Given the description of an element on the screen output the (x, y) to click on. 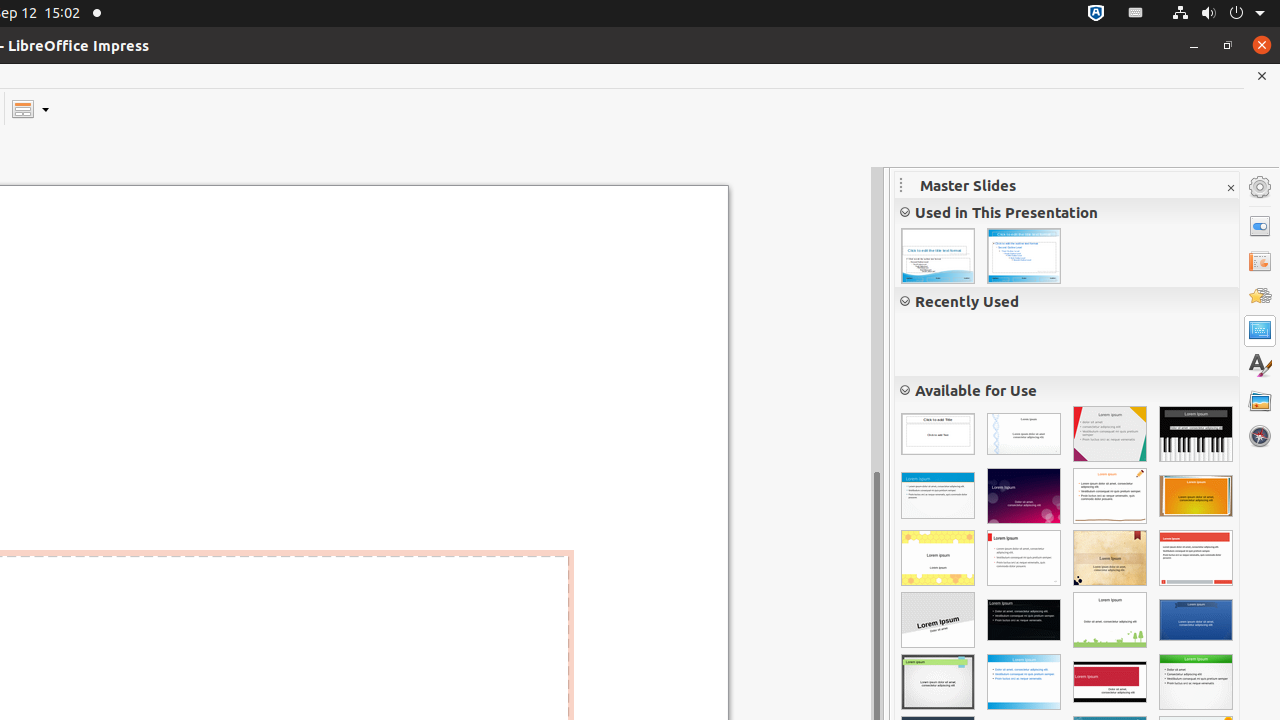
Blue Curve Element type: list-item (1024, 682)
Pencil Element type: list-item (1110, 496)
Animation Element type: radio-button (1260, 296)
Vivid Element type: list-item (938, 496)
Classy Red Element type: list-item (1110, 682)
